Given the description of an element on the screen output the (x, y) to click on. 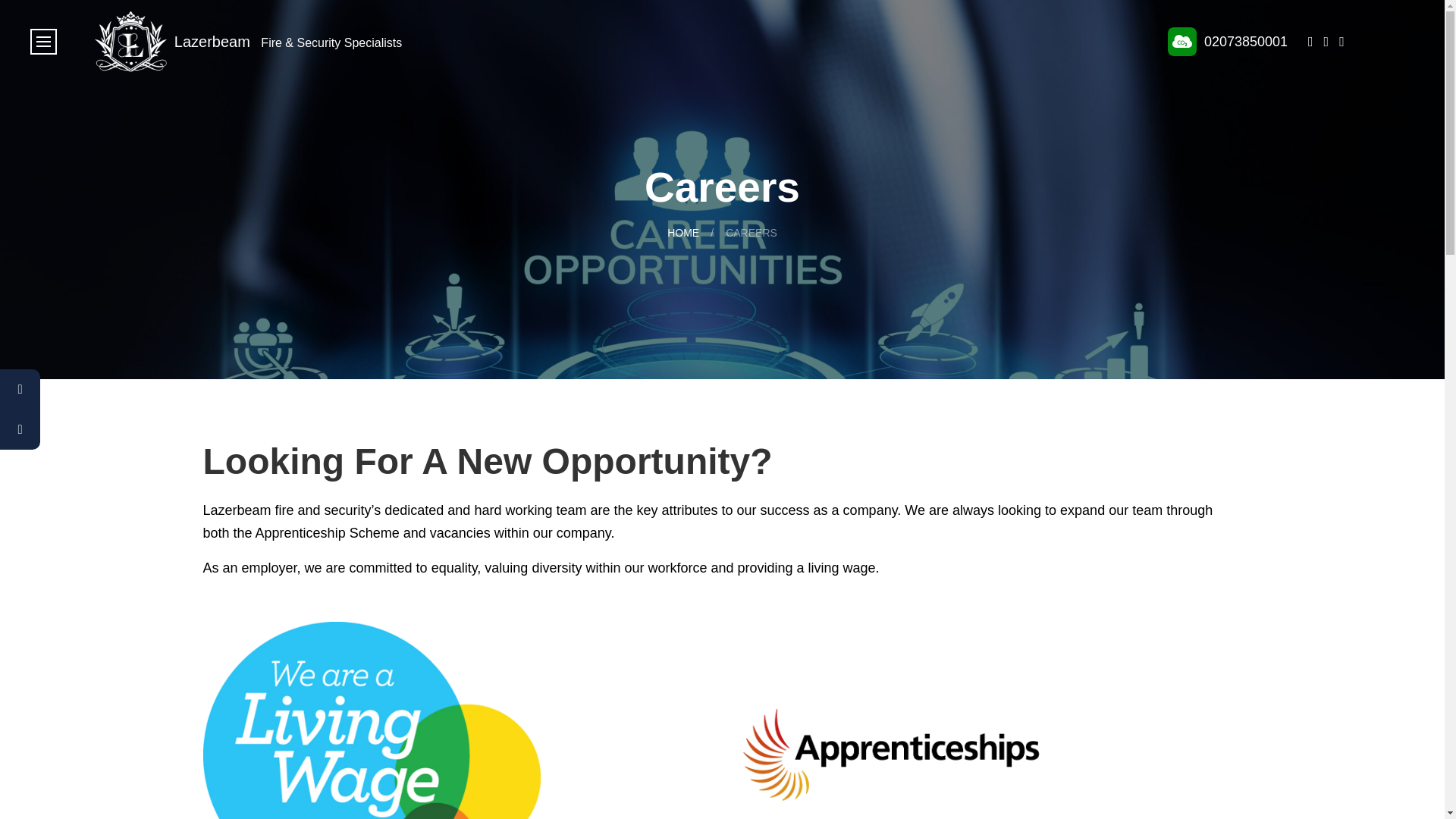
LIVING WAGE EMPLOYEE (371, 720)
